Given the description of an element on the screen output the (x, y) to click on. 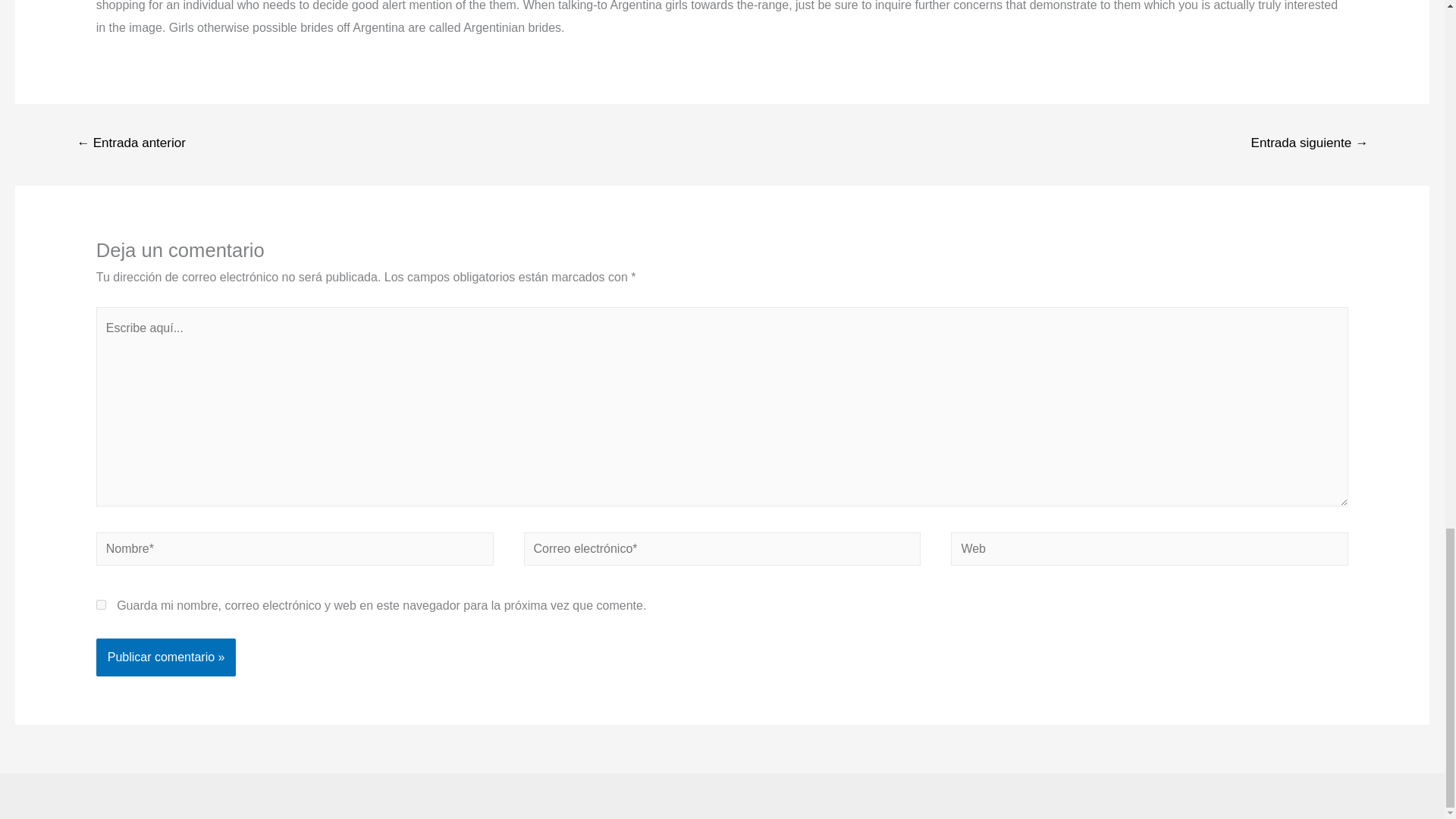
yes (101, 604)
